Given the description of an element on the screen output the (x, y) to click on. 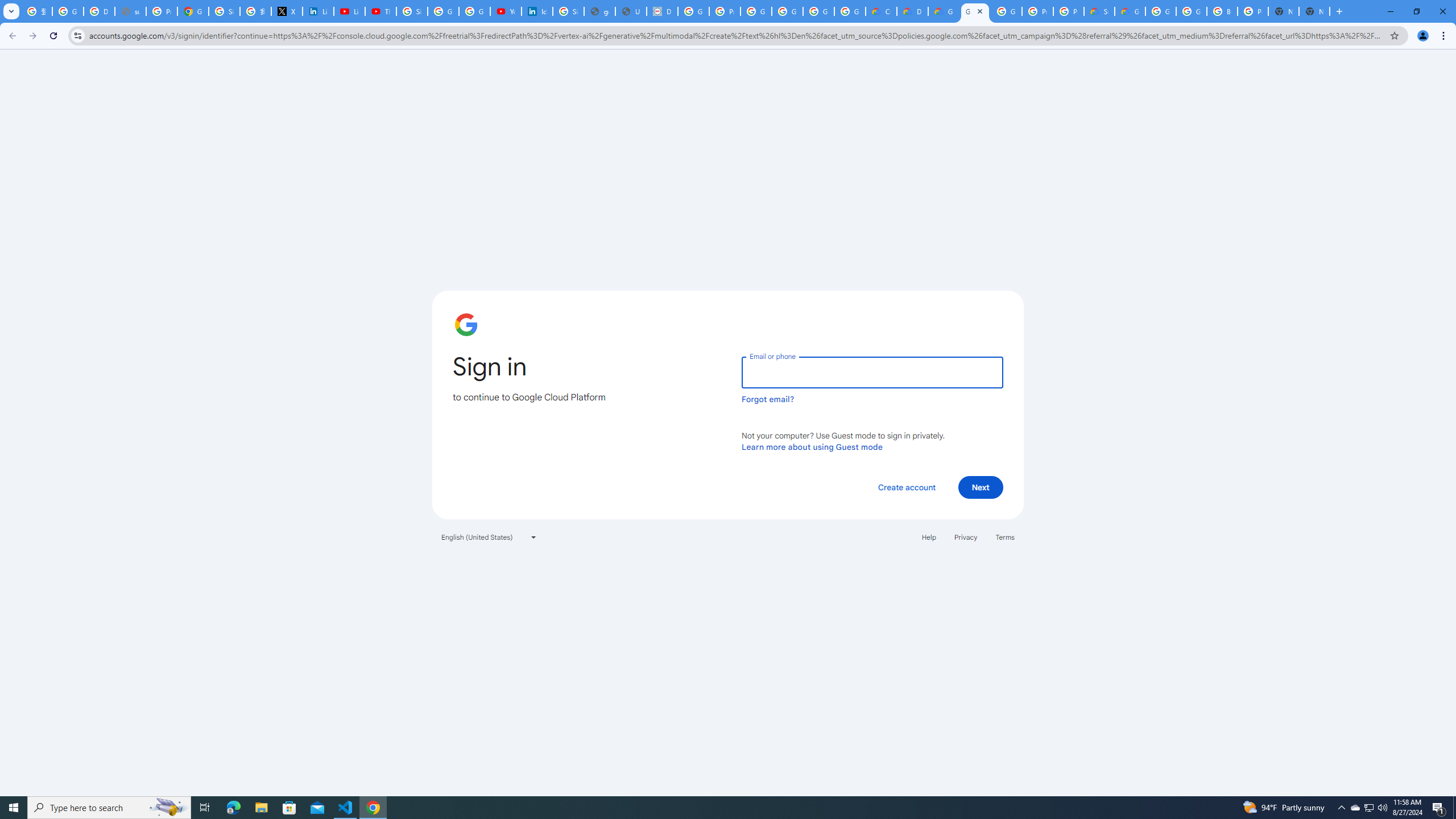
Forgot email? (767, 398)
Privacy (965, 536)
Sign in - Google Accounts (223, 11)
Google Cloud Service Health (1129, 11)
